Given the description of an element on the screen output the (x, y) to click on. 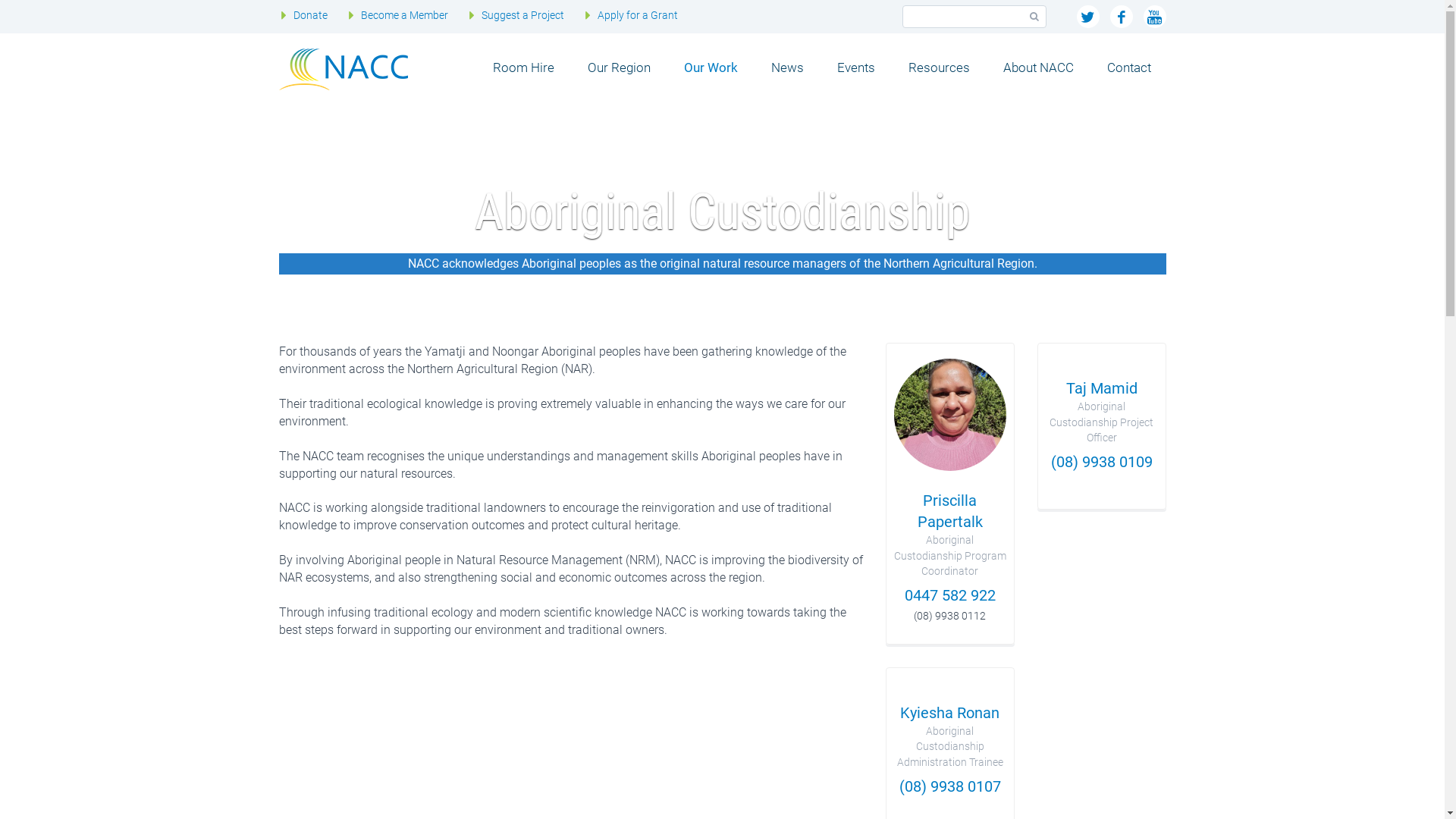
News Element type: text (786, 67)
facebook Element type: text (1121, 16)
Our Work Element type: text (710, 67)
Contact Element type: text (1129, 67)
Become a Member Element type: text (404, 15)
Apply for a Grant Element type: text (637, 15)
Our Region Element type: text (618, 67)
YouTube Element type: hover (1154, 16)
Donate Element type: text (310, 15)
twitter Element type: text (1087, 16)
Search Element type: text (1034, 17)
Room Hire Element type: text (523, 67)
Resources Element type: text (939, 67)
Events Element type: text (856, 67)
About NACC Element type: text (1037, 67)
Suggest a Project Element type: text (522, 15)
